Given the description of an element on the screen output the (x, y) to click on. 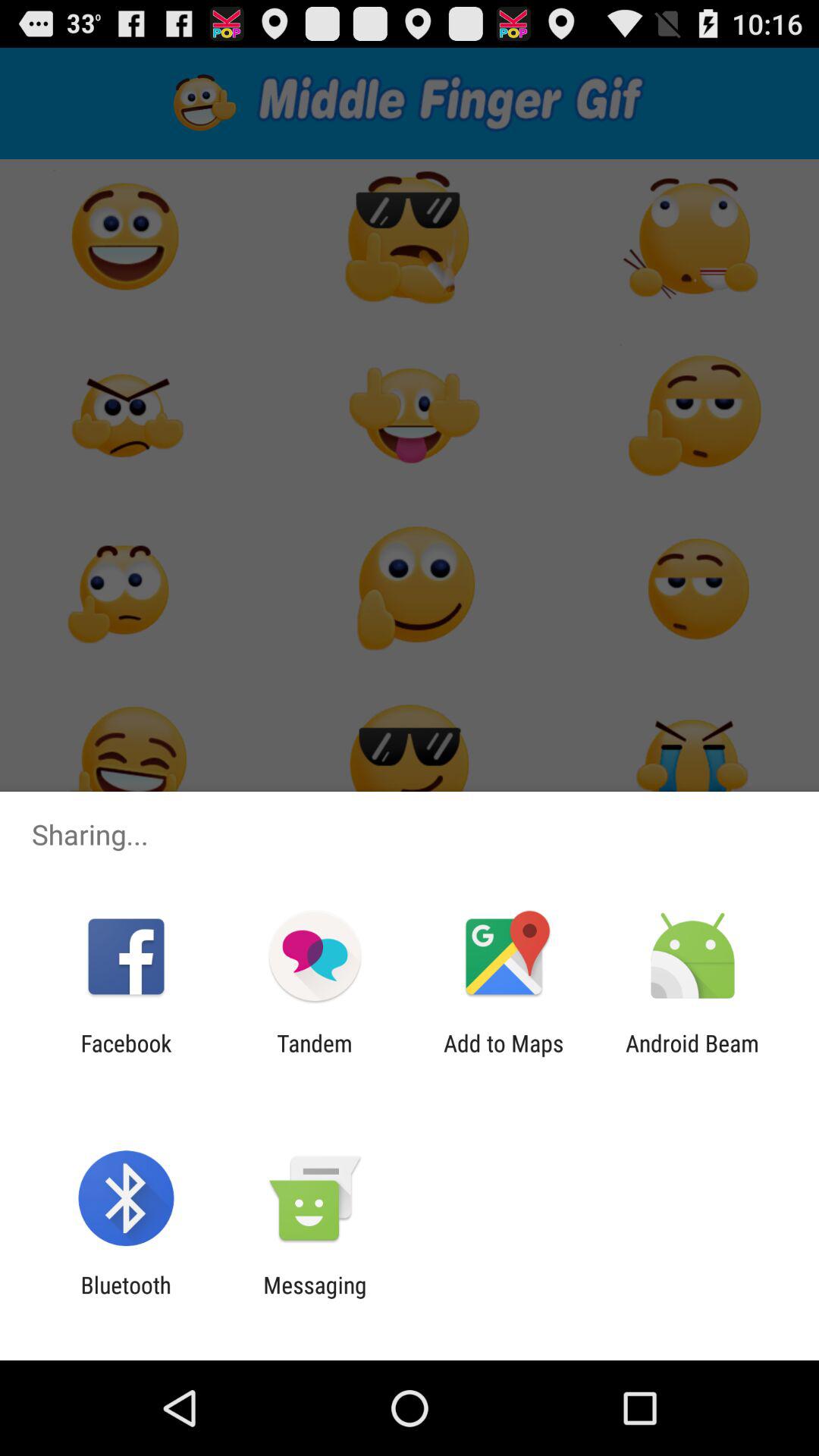
open the icon to the right of bluetooth (314, 1298)
